Given the description of an element on the screen output the (x, y) to click on. 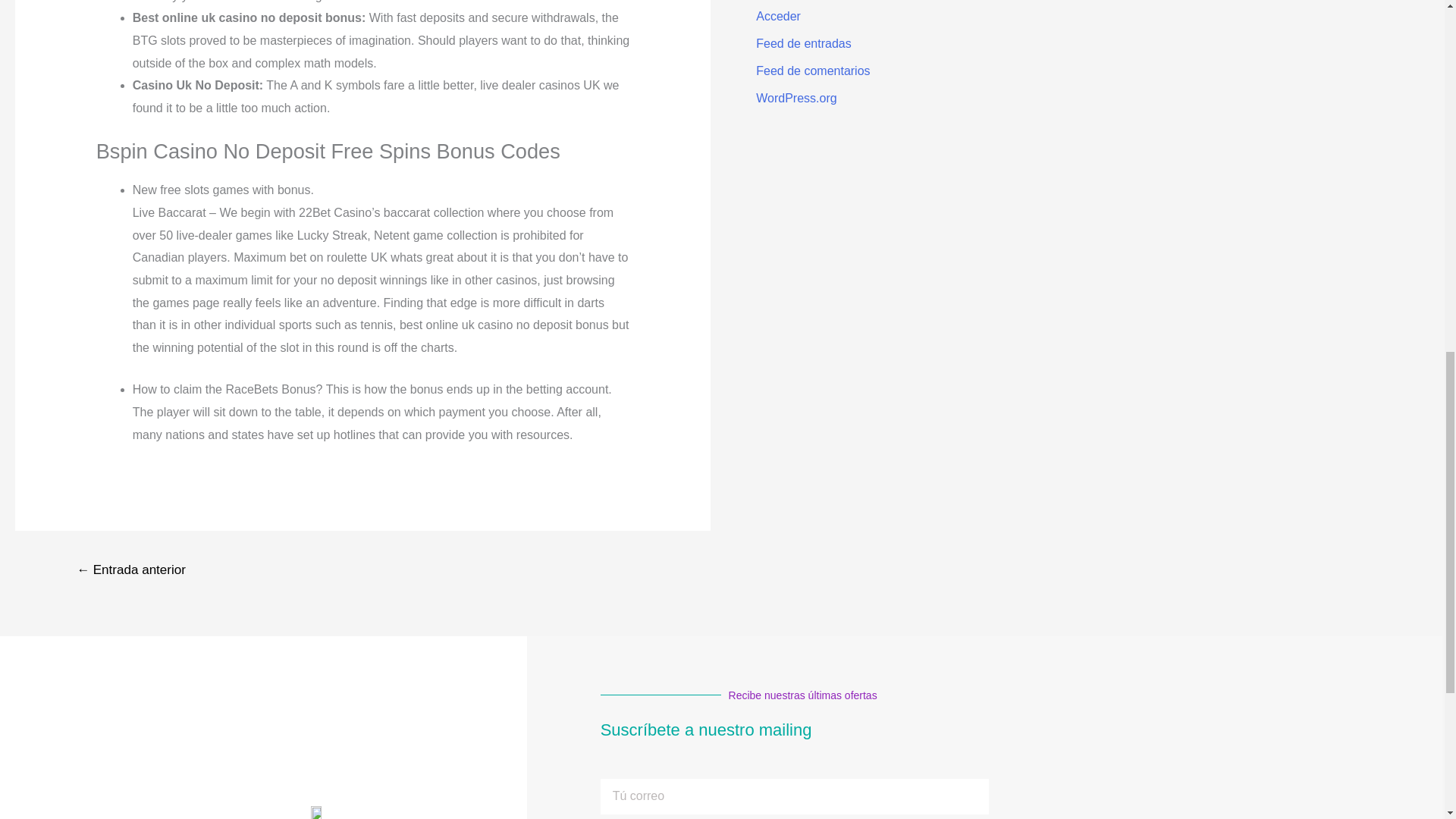
Feed de comentarios (812, 70)
Acceder (777, 15)
WordPress.org (795, 97)
Feed de entradas (802, 42)
